Given the description of an element on the screen output the (x, y) to click on. 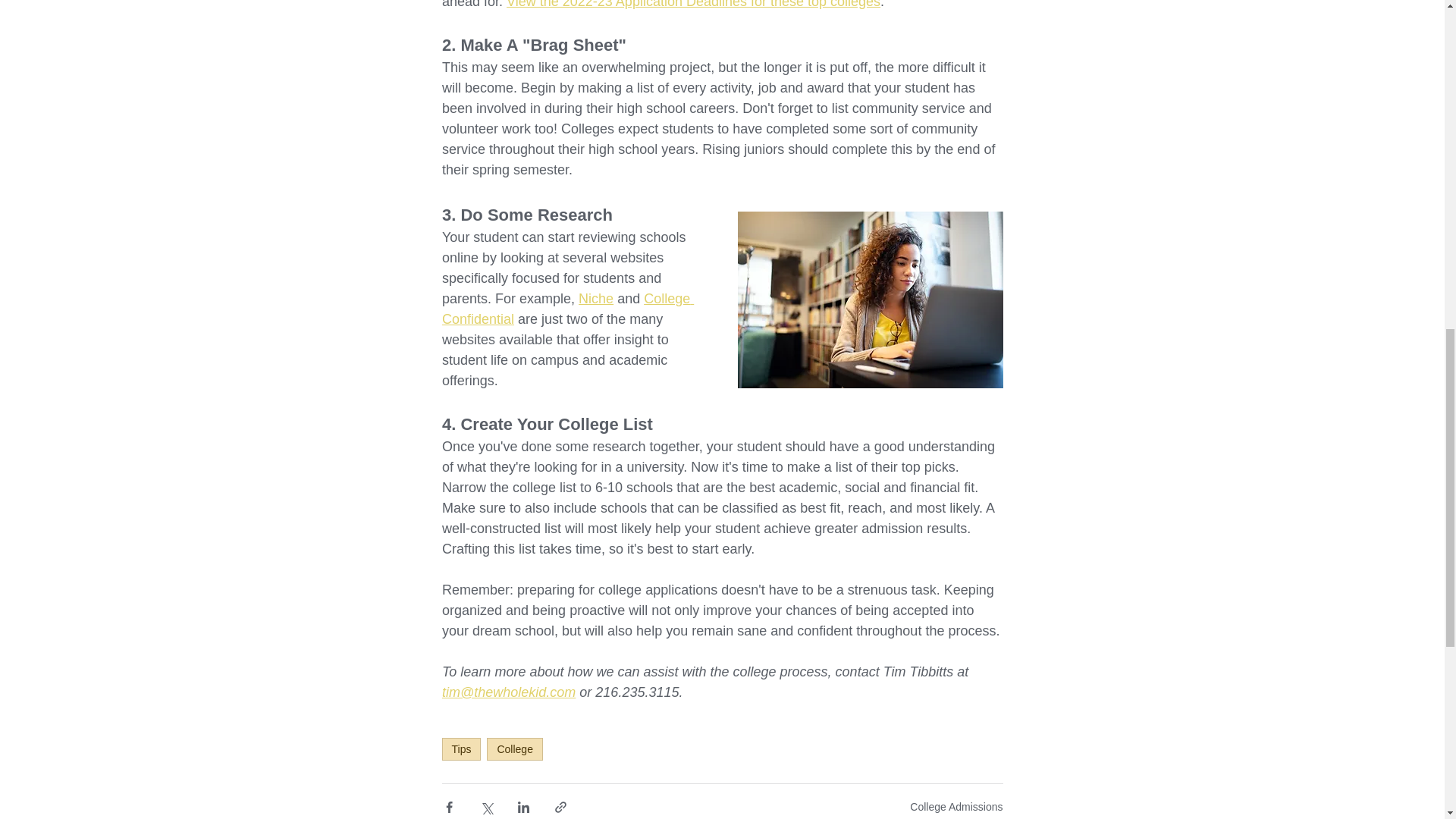
College (513, 748)
College Confidential (567, 308)
Niche (595, 298)
Tips (460, 748)
College Admissions (956, 806)
